Given the description of an element on the screen output the (x, y) to click on. 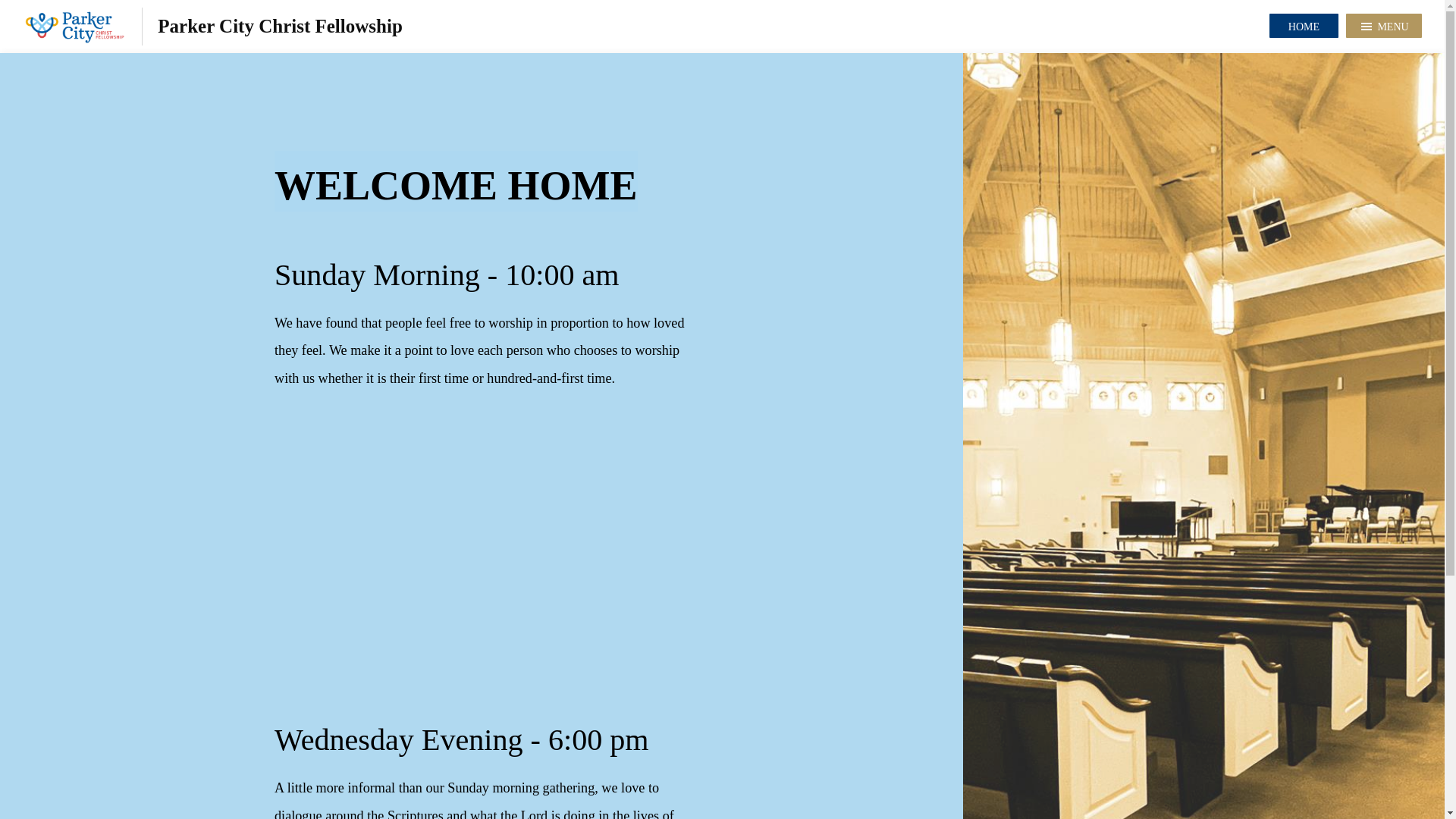
MENU (1383, 25)
Parker City Christ Fellowship (213, 26)
HOME (1303, 25)
